Given the description of an element on the screen output the (x, y) to click on. 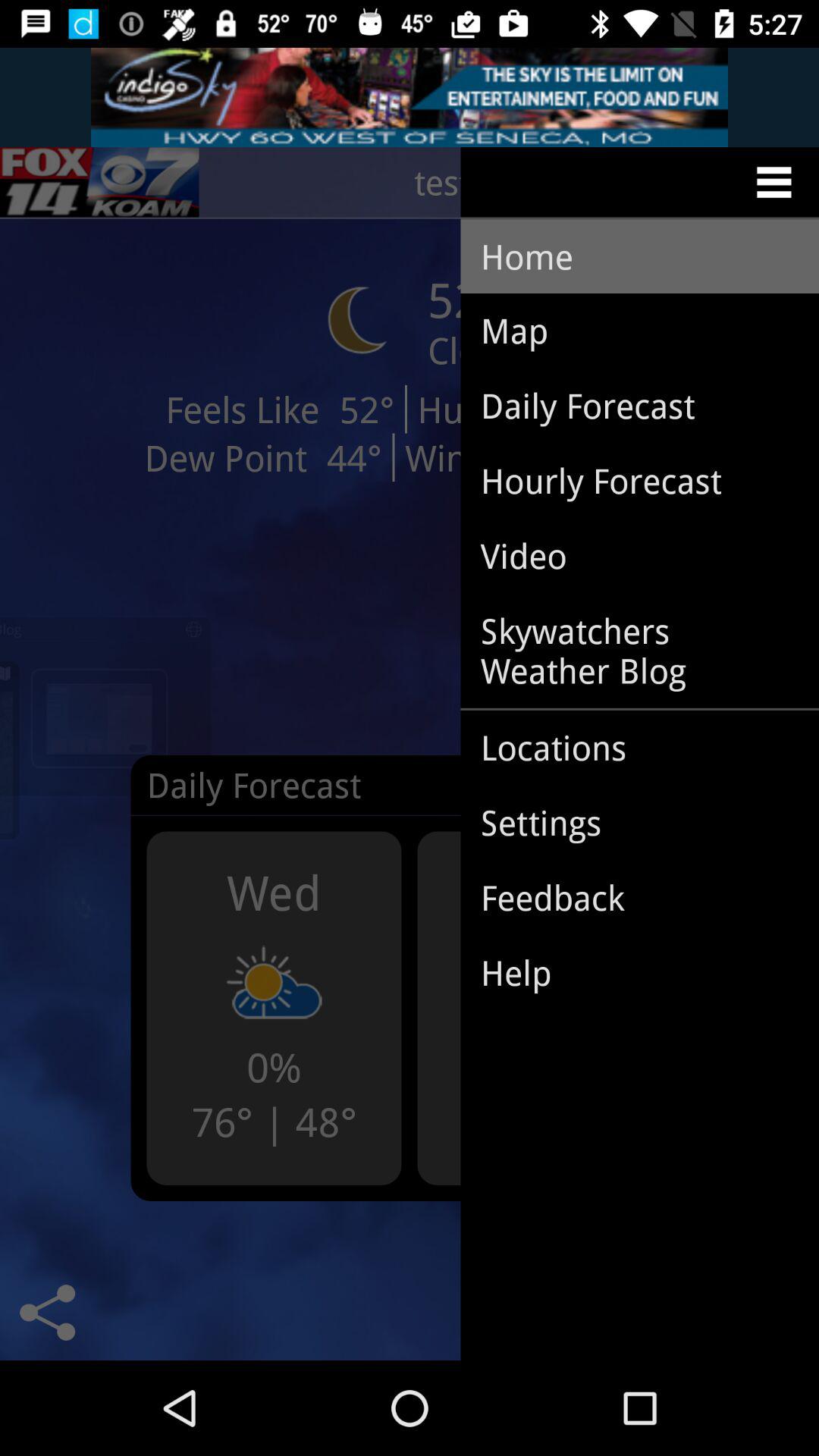
select the daily forecaste which is below the wed (278, 796)
select the symbol which is above 52 (357, 319)
